Given the description of an element on the screen output the (x, y) to click on. 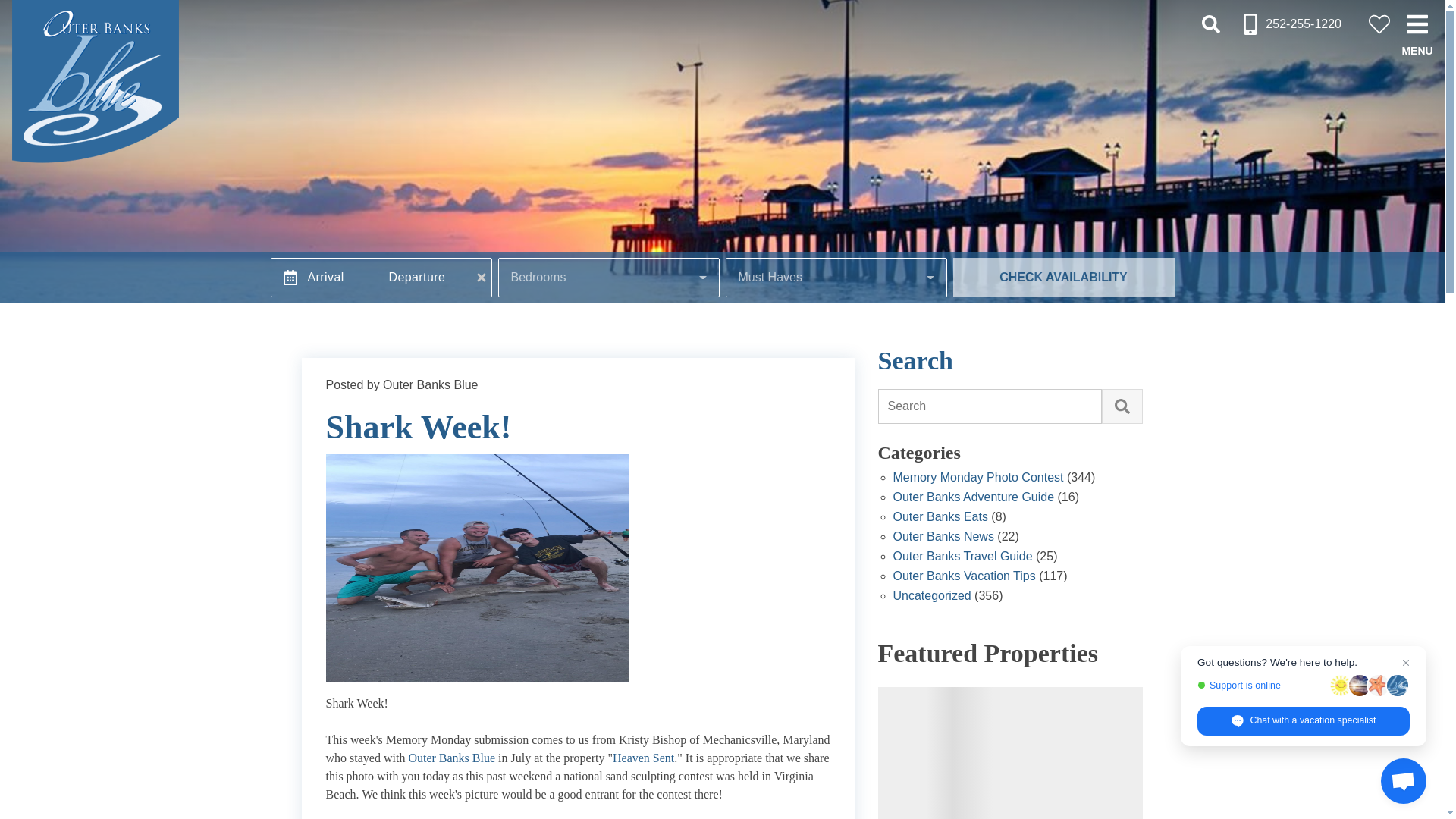
Bedrooms (609, 277)
252-255-1220 (1291, 23)
MENU (1417, 24)
Search (1211, 24)
Must Haves (836, 277)
